Given the description of an element on the screen output the (x, y) to click on. 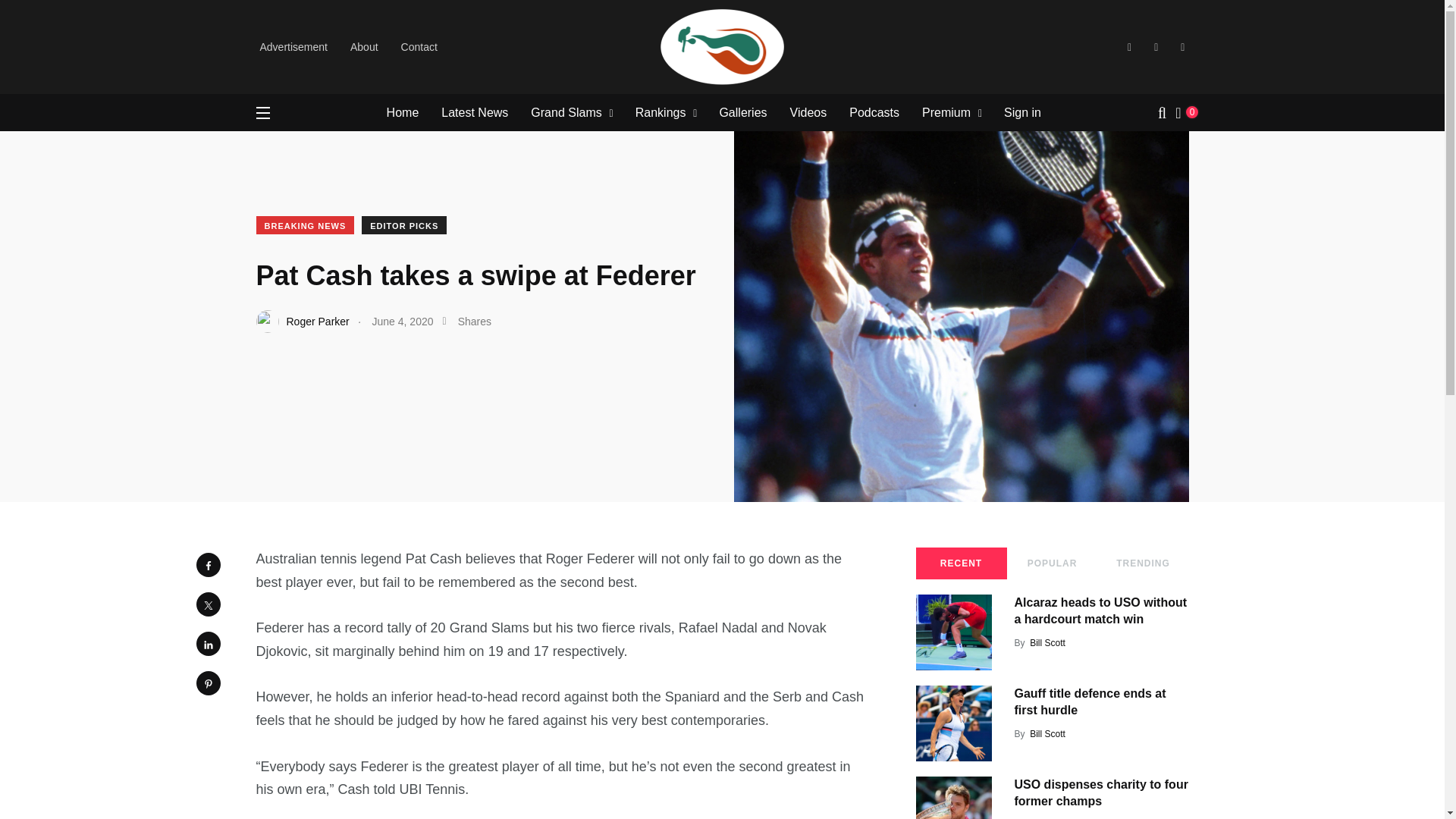
Share on Twitter (207, 604)
Latest News (474, 113)
Advertisement (292, 46)
GrandSlamTennis.Online (315, 23)
Rankings (659, 113)
Premium (946, 113)
About (364, 46)
Posts by Bill Scott (1047, 733)
Go to the Breaking News Category archives. (472, 23)
Sign in (1022, 113)
